Given the description of an element on the screen output the (x, y) to click on. 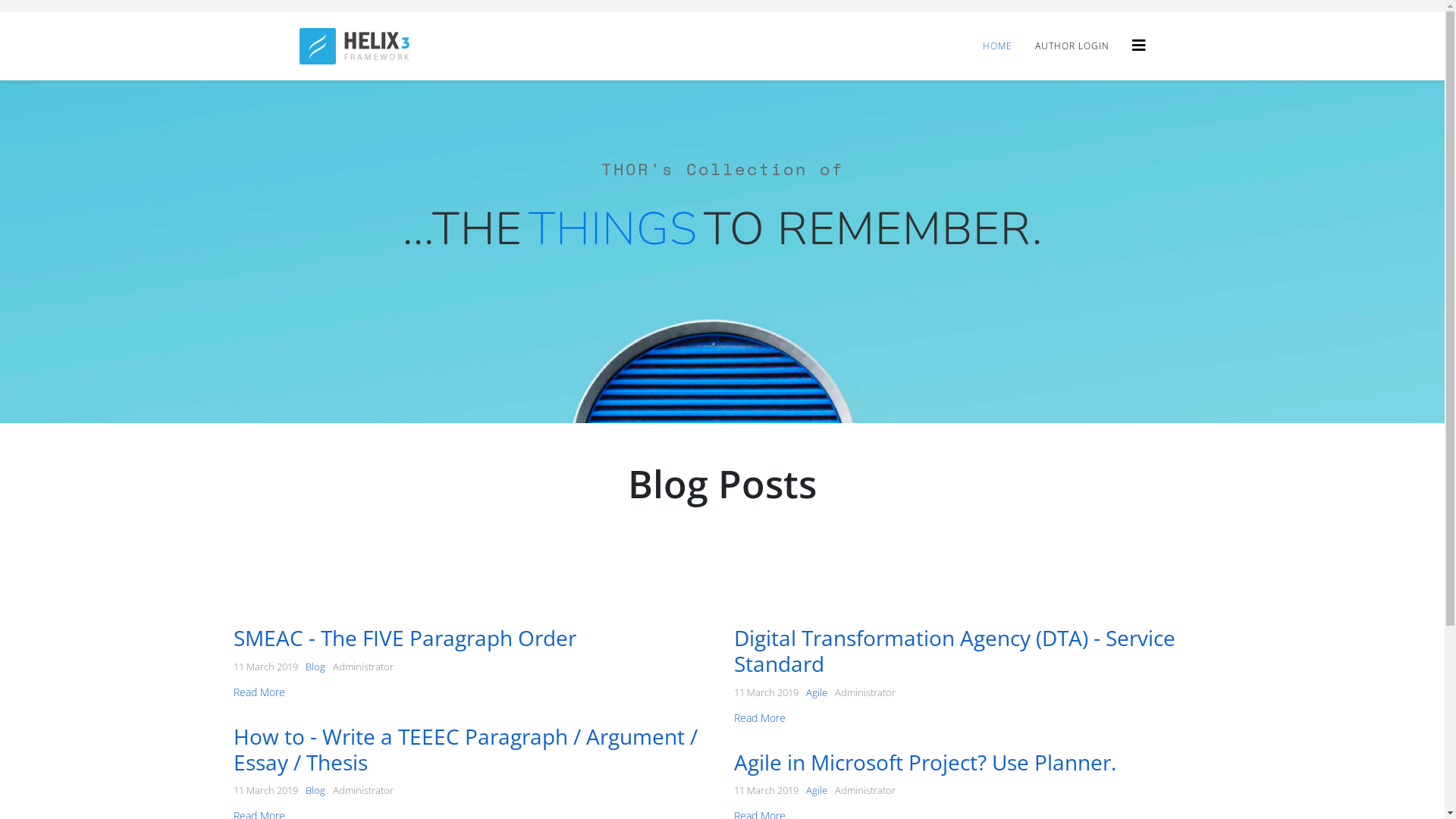
HOME Element type: text (996, 46)
Blog Element type: text (314, 666)
Digital Transformation Agency (DTA) - Service Standard Element type: text (954, 650)
Read More Element type: text (259, 691)
AUTHOR LOGIN Element type: text (1071, 46)
Blog Element type: text (314, 790)
Read More Element type: text (759, 717)
Agile Element type: text (815, 790)
Agile in Microsoft Project? Use Planner. Element type: text (925, 761)
SMEAC - The FIVE Paragraph Order Element type: text (404, 637)
Helix3 Megamenu Options Element type: hover (1138, 45)
Agile Element type: text (815, 692)
How to - Write a TEEEC Paragraph / Argument / Essay / Thesis Element type: text (465, 748)
